Given the description of an element on the screen output the (x, y) to click on. 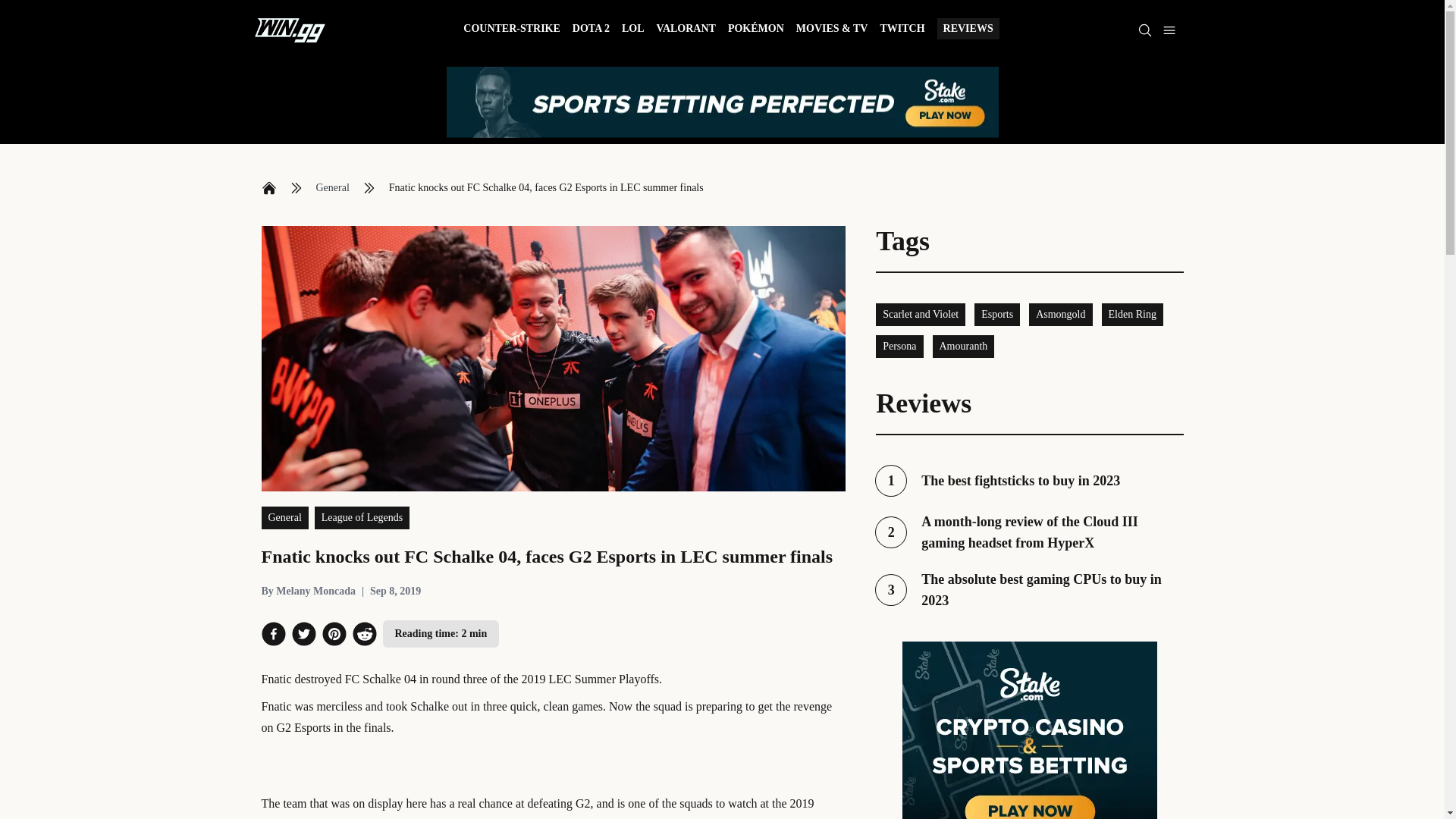
General (332, 187)
Esports (997, 314)
DOTA 2 (591, 30)
League of Legends (361, 517)
TWITCH (901, 30)
VALORANT (686, 30)
Home (268, 187)
Amouranth (1029, 589)
Scarlet and Violet (963, 345)
Elden Ring (920, 314)
COUNTER-STRIKE (1130, 314)
By Melany Moncada (511, 30)
